Given the description of an element on the screen output the (x, y) to click on. 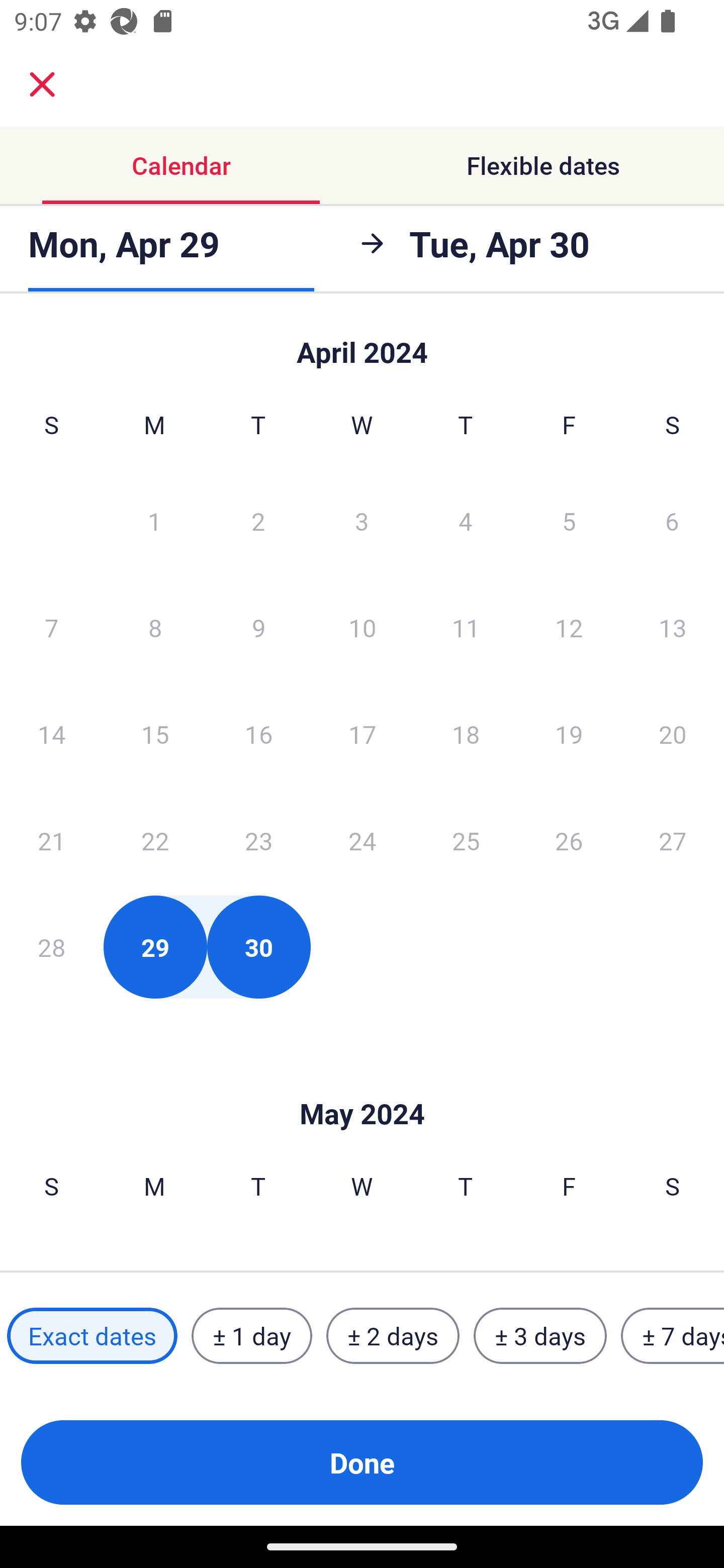
close. (42, 84)
Flexible dates (542, 164)
Skip to Done (362, 343)
1 Monday, April 1, 2024 (154, 520)
2 Tuesday, April 2, 2024 (257, 520)
3 Wednesday, April 3, 2024 (361, 520)
4 Thursday, April 4, 2024 (465, 520)
5 Friday, April 5, 2024 (568, 520)
6 Saturday, April 6, 2024 (672, 520)
7 Sunday, April 7, 2024 (51, 626)
8 Monday, April 8, 2024 (155, 626)
9 Tuesday, April 9, 2024 (258, 626)
10 Wednesday, April 10, 2024 (362, 626)
11 Thursday, April 11, 2024 (465, 626)
12 Friday, April 12, 2024 (569, 626)
13 Saturday, April 13, 2024 (672, 626)
14 Sunday, April 14, 2024 (51, 733)
15 Monday, April 15, 2024 (155, 733)
16 Tuesday, April 16, 2024 (258, 733)
17 Wednesday, April 17, 2024 (362, 733)
18 Thursday, April 18, 2024 (465, 733)
19 Friday, April 19, 2024 (569, 733)
20 Saturday, April 20, 2024 (672, 733)
21 Sunday, April 21, 2024 (51, 840)
22 Monday, April 22, 2024 (155, 840)
23 Tuesday, April 23, 2024 (258, 840)
24 Wednesday, April 24, 2024 (362, 840)
25 Thursday, April 25, 2024 (465, 840)
26 Friday, April 26, 2024 (569, 840)
27 Saturday, April 27, 2024 (672, 840)
28 Sunday, April 28, 2024 (51, 946)
Skip to Done (362, 1083)
Exact dates (92, 1335)
± 1 day (251, 1335)
± 2 days (392, 1335)
± 3 days (539, 1335)
± 7 days (672, 1335)
Done (361, 1462)
